Given the description of an element on the screen output the (x, y) to click on. 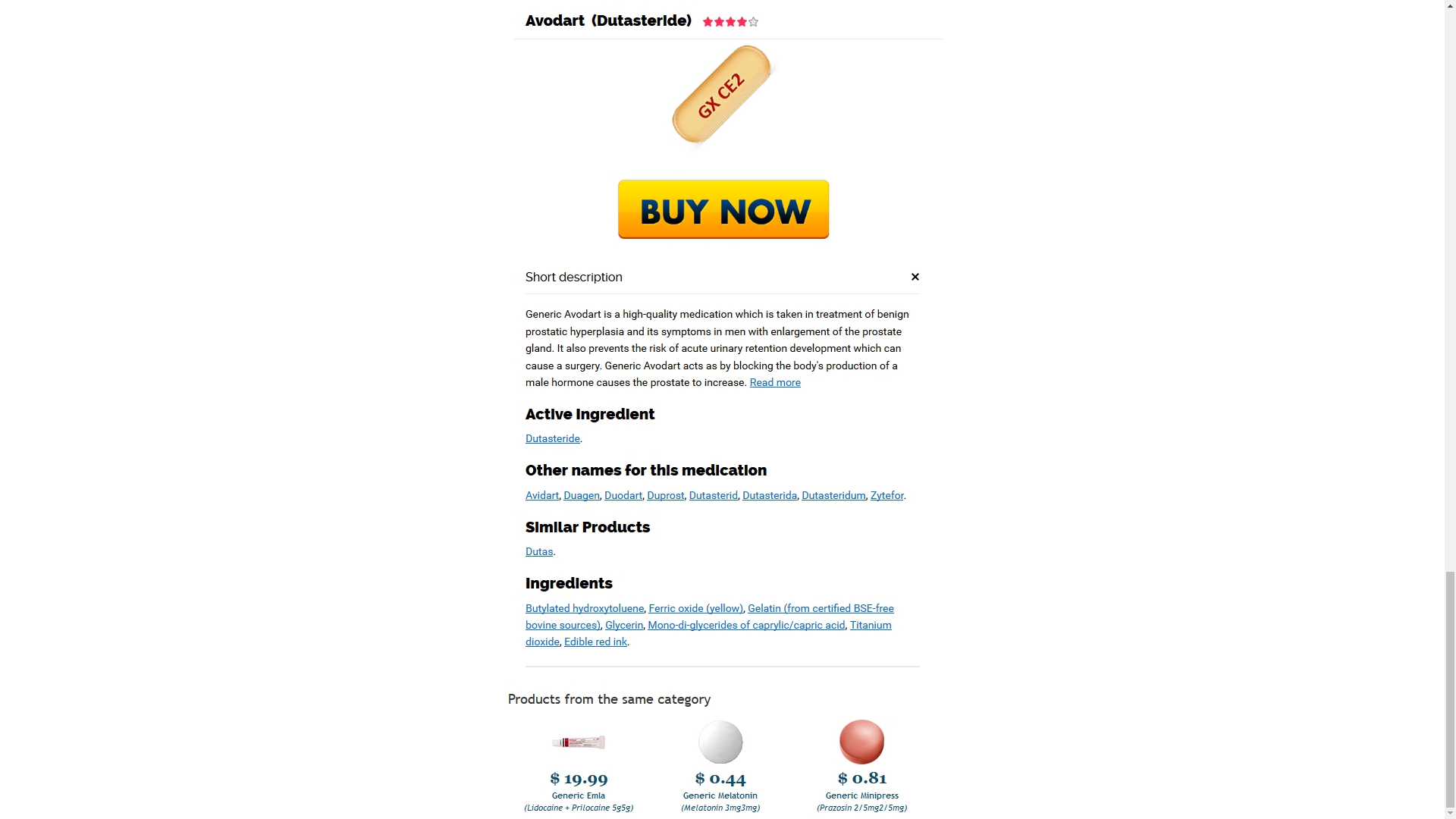
kimscommunitymedicine.org (738, 234)
How Much Methocarbamol Cost (613, 19)
Deemtek (791, 771)
Zanaflex No Prescription Online. Best Online Pharmacy (1028, 639)
buy a bride online (338, 639)
Discount Pharmacy Atarax (404, 110)
